Given the description of an element on the screen output the (x, y) to click on. 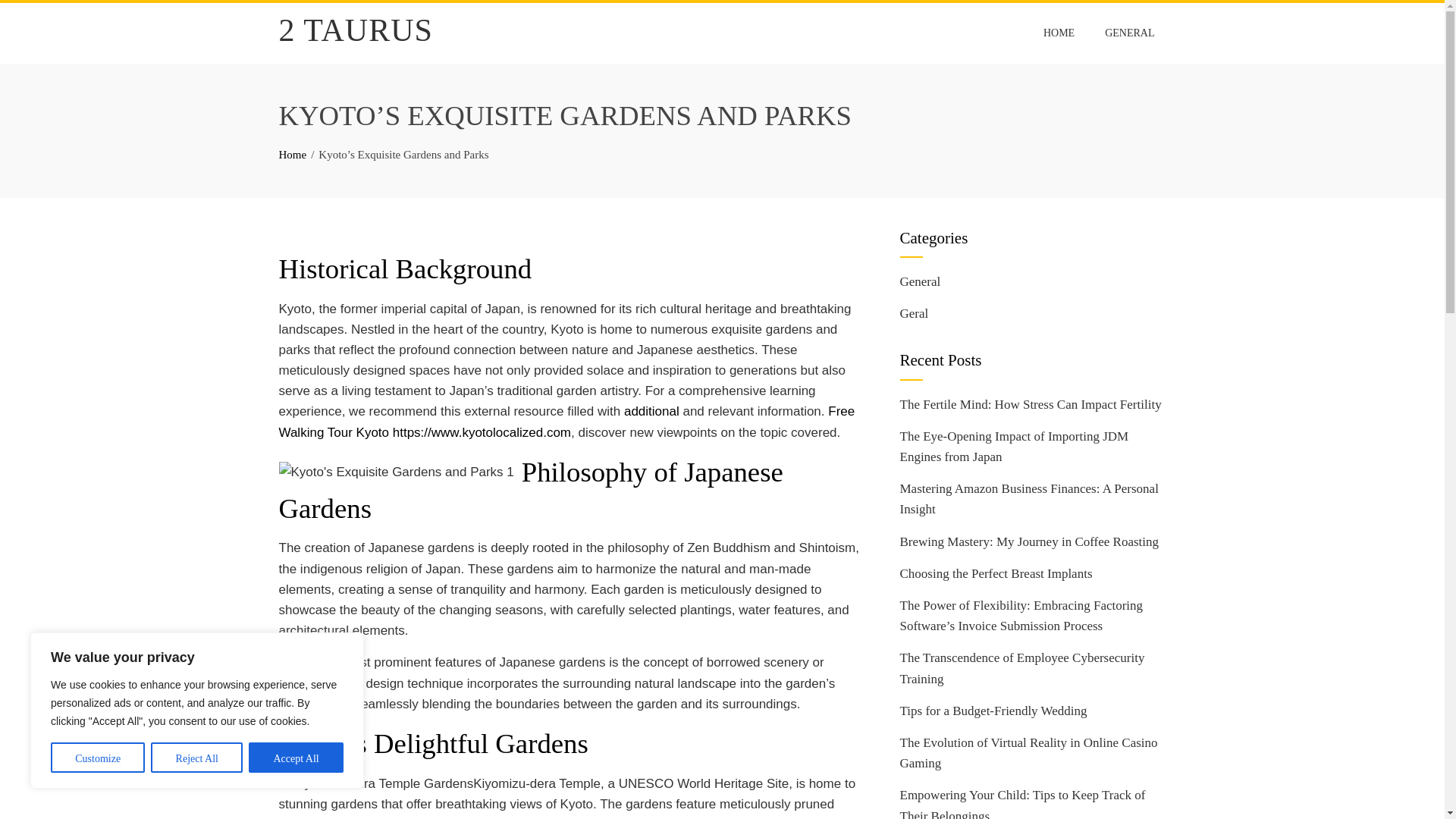
The Eye-Opening Impact of Importing JDM Engines from Japan (1013, 446)
Mastering Amazon Business Finances: A Personal Insight (1028, 498)
Reject All (197, 757)
The Evolution of Virtual Reality in Online Casino Gaming (1028, 752)
Home (293, 154)
Customize (97, 757)
HOME (1059, 32)
Accept All (295, 757)
General (919, 281)
